Given the description of an element on the screen output the (x, y) to click on. 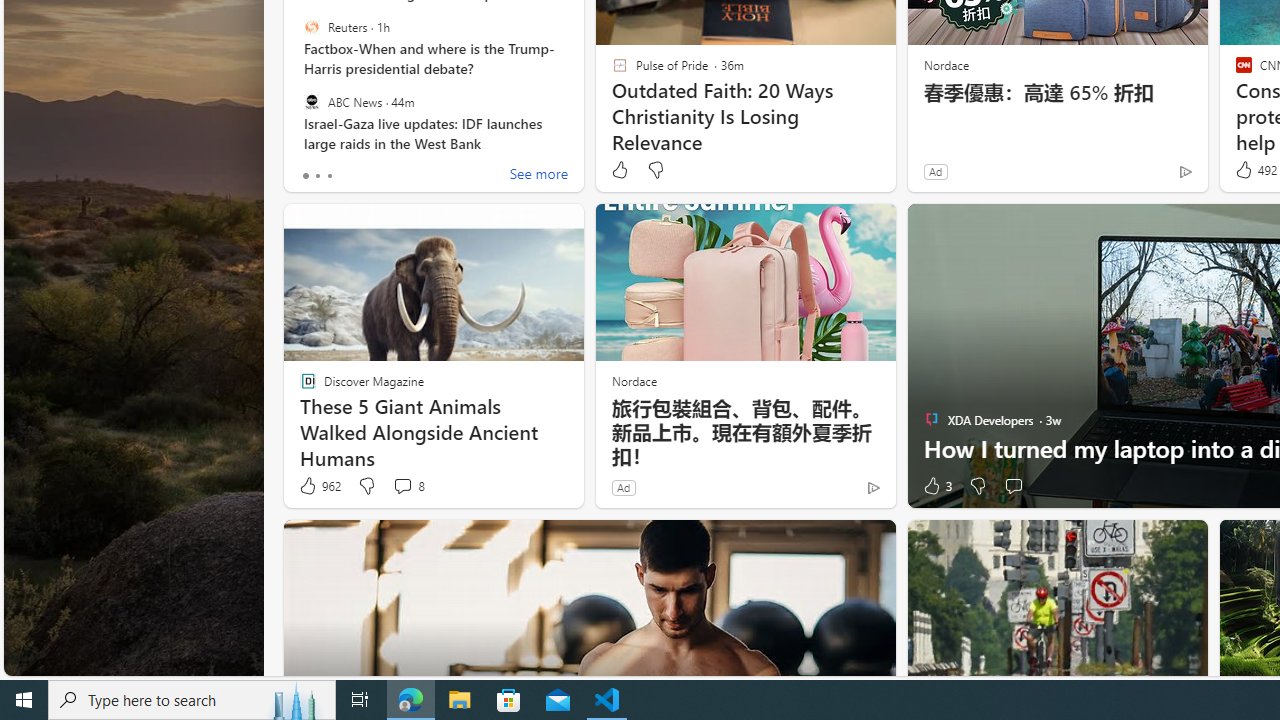
ABC News (311, 101)
View comments 8 Comment (408, 485)
Ad (623, 487)
Ad Choice (873, 487)
tab-0 (305, 175)
tab-1 (317, 175)
Like (619, 170)
Dislike (976, 485)
View comments 8 Comment (402, 485)
Start the conversation (1013, 485)
See more (538, 175)
